Given the description of an element on the screen output the (x, y) to click on. 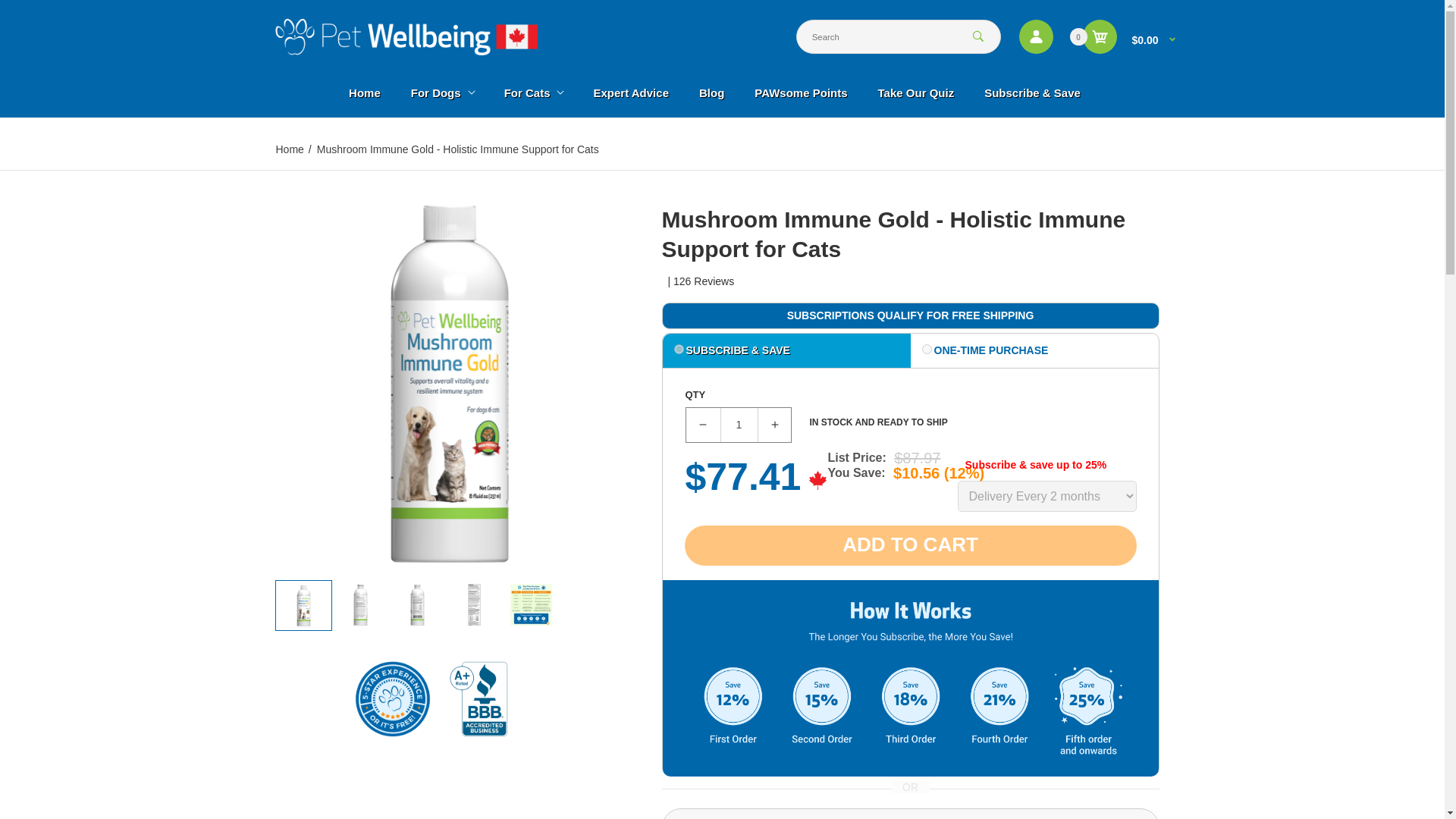
onetime (926, 348)
1 (739, 424)
subsave (677, 348)
Skip to content (22, 7)
